Given the description of an element on the screen output the (x, y) to click on. 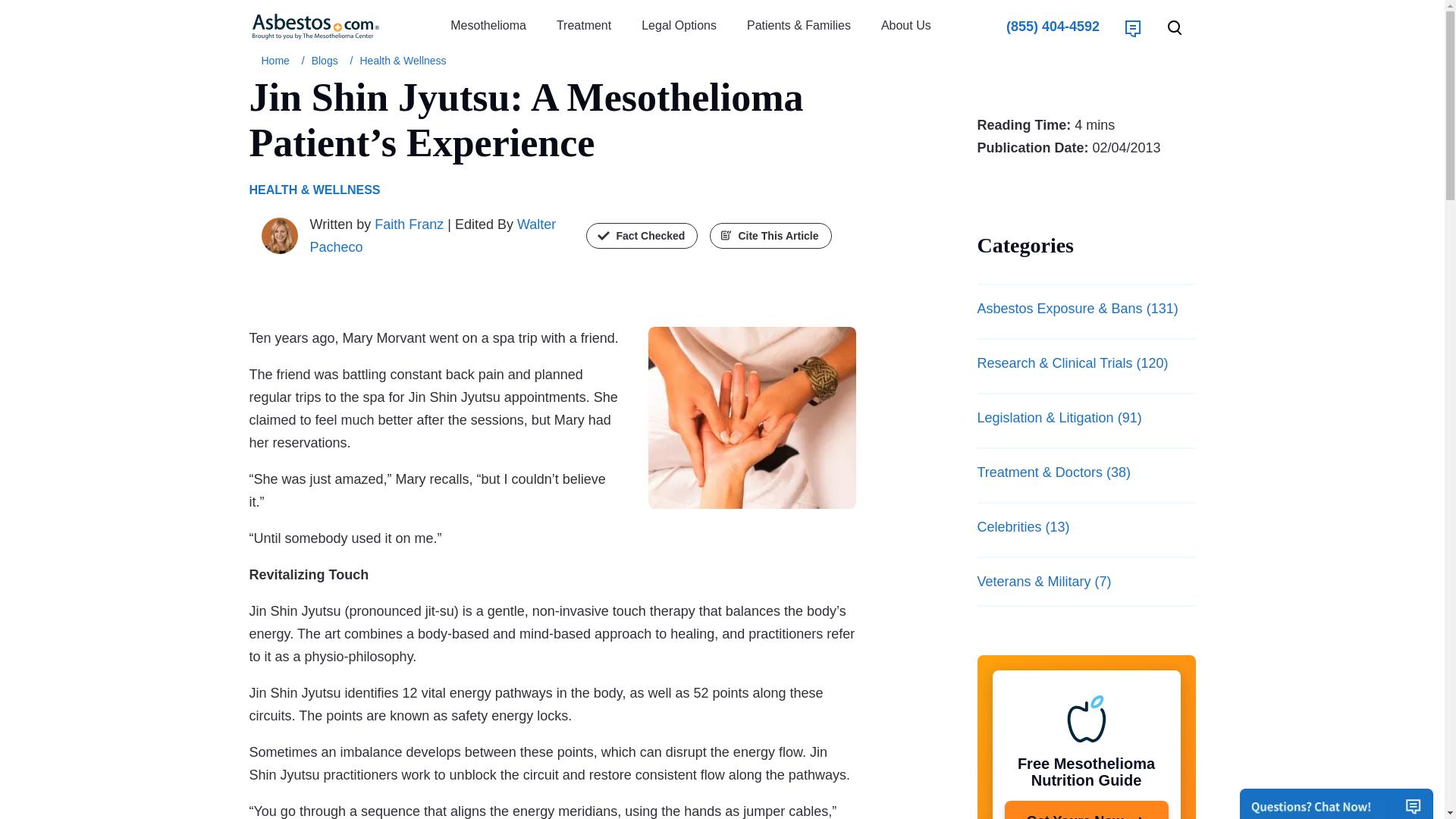
Mesothelioma (487, 25)
Mesothelioma Center (277, 60)
Treatment (583, 25)
